Given the description of an element on the screen output the (x, y) to click on. 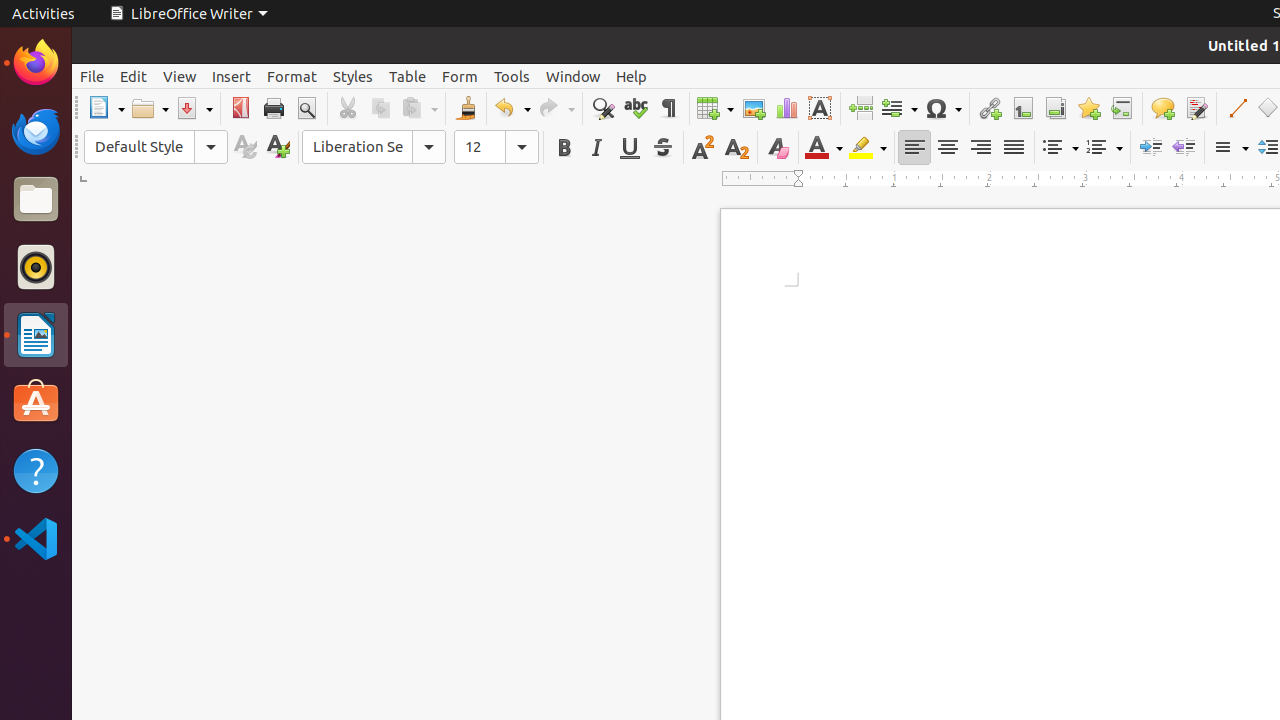
Styles Element type: menu (353, 76)
Window Element type: menu (573, 76)
Save Element type: push-button (194, 108)
LibreOffice Writer Element type: push-button (36, 334)
Print Preview Element type: toggle-button (306, 108)
